Given the description of an element on the screen output the (x, y) to click on. 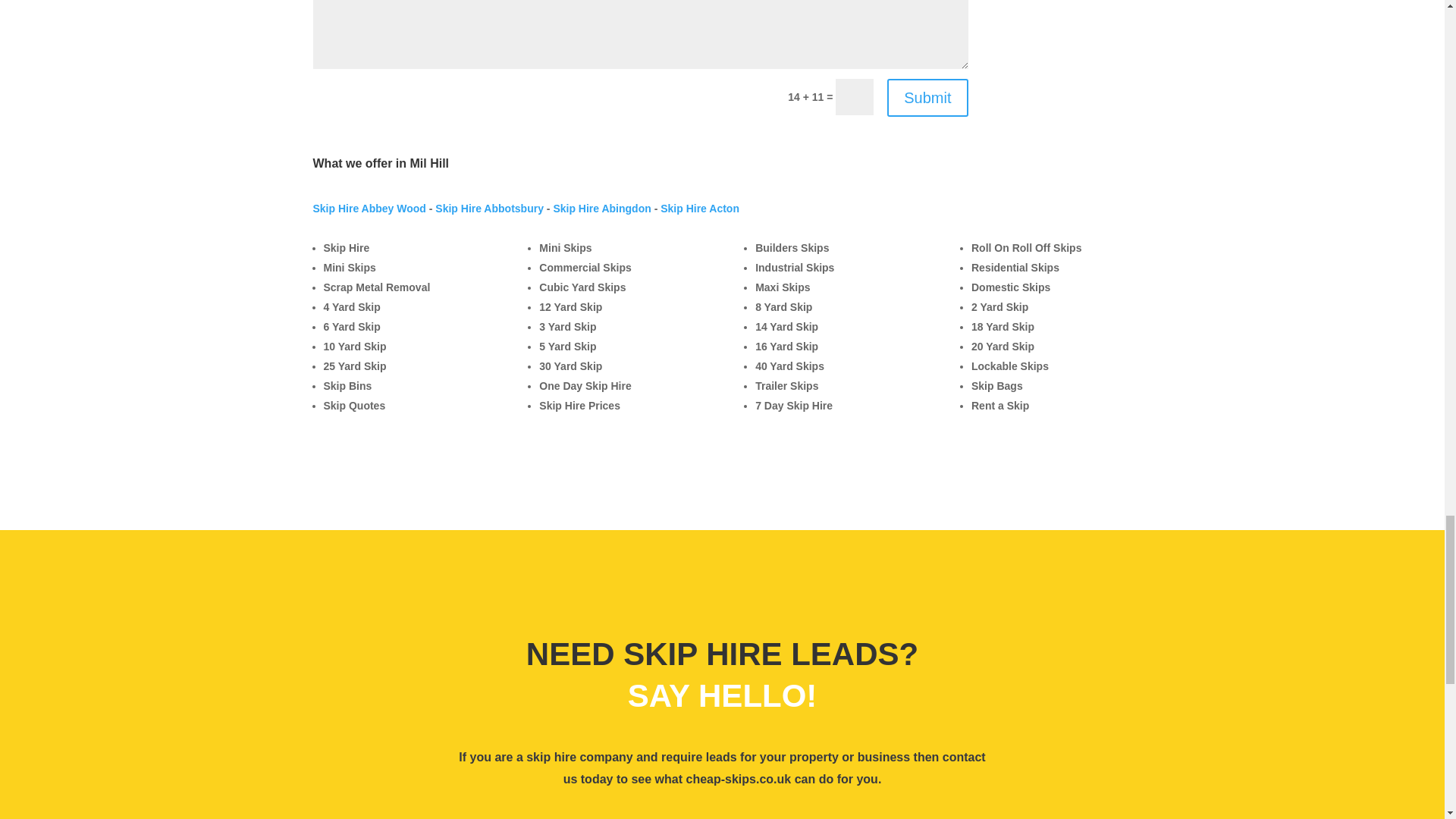
Skip Hire Abbey Wood (369, 208)
Skip Hire Abingdon (601, 208)
Skip Hire Abbotsbury (489, 208)
Skip Hire Abbotsbury (489, 208)
Skip Hire Abingdon (601, 208)
Skip Hire Abbey Wood (369, 208)
Submit (927, 97)
Skip Hire Acton (700, 208)
Skip Hire Acton (700, 208)
